Given the description of an element on the screen output the (x, y) to click on. 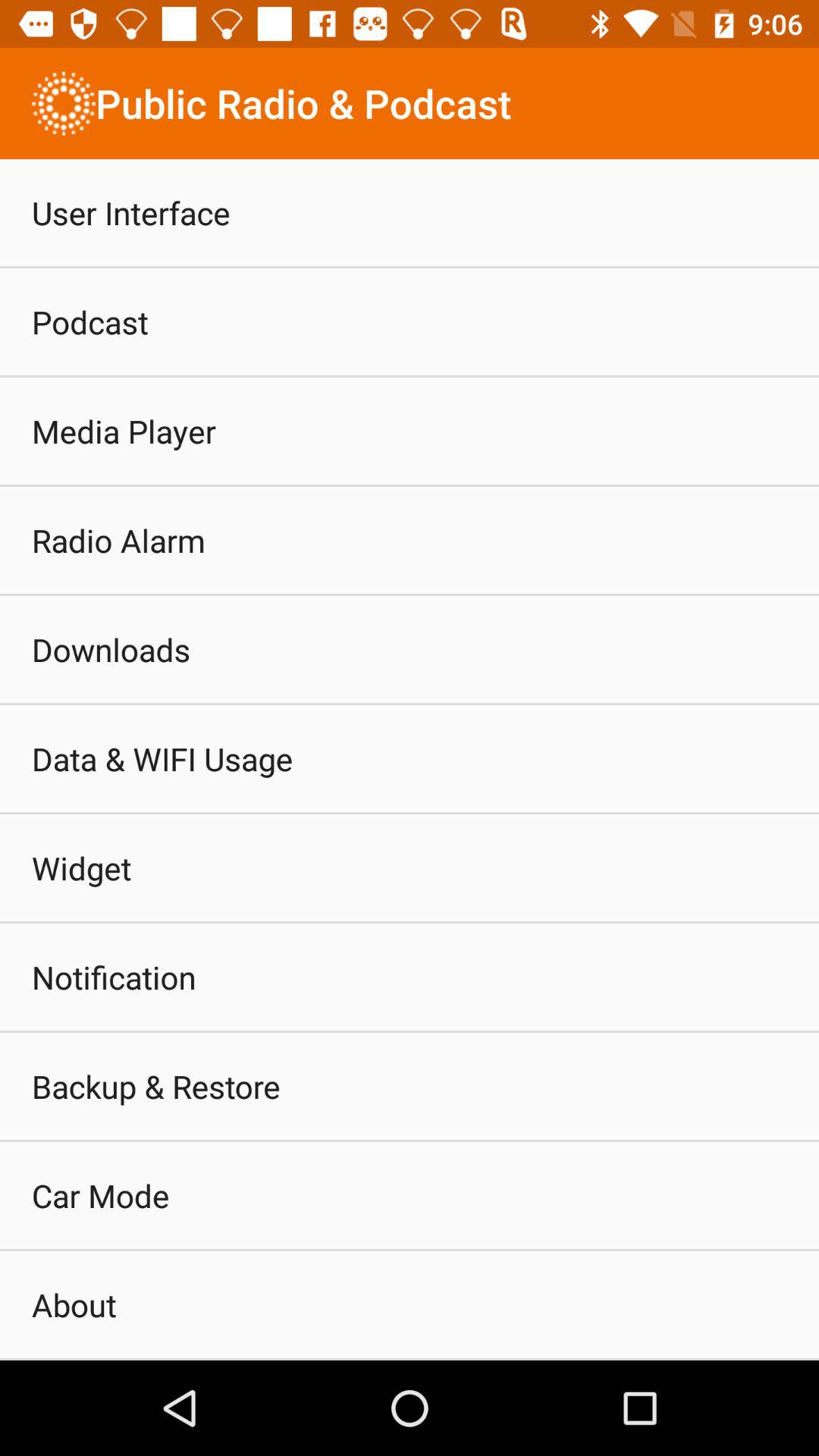
click item at the center (409, 759)
